Given the description of an element on the screen output the (x, y) to click on. 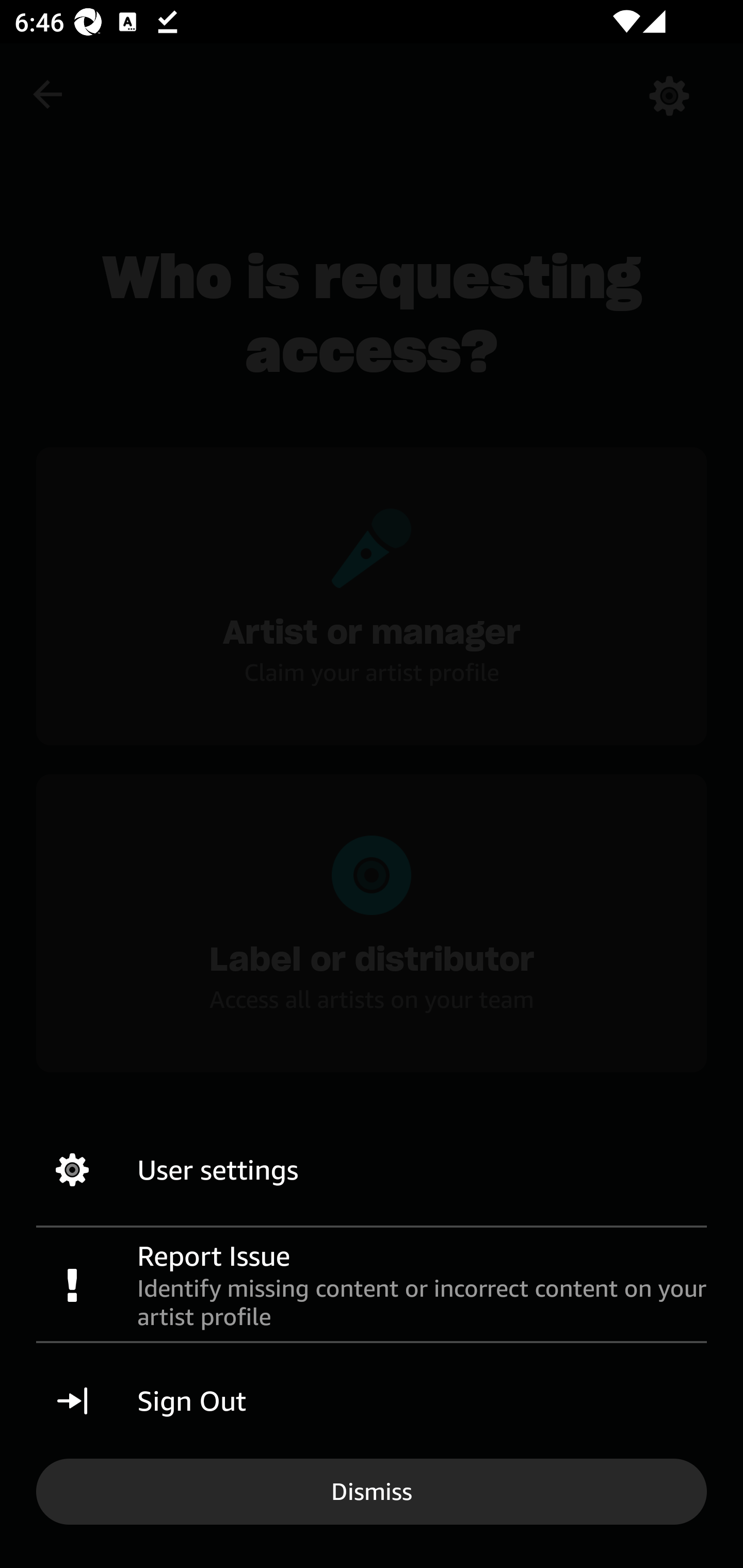
User settings  icon User settings User settings (371, 1169)
Sign Out  icon Sign Out Sign Out (371, 1400)
Dismiss button Dismiss (371, 1491)
